Given the description of an element on the screen output the (x, y) to click on. 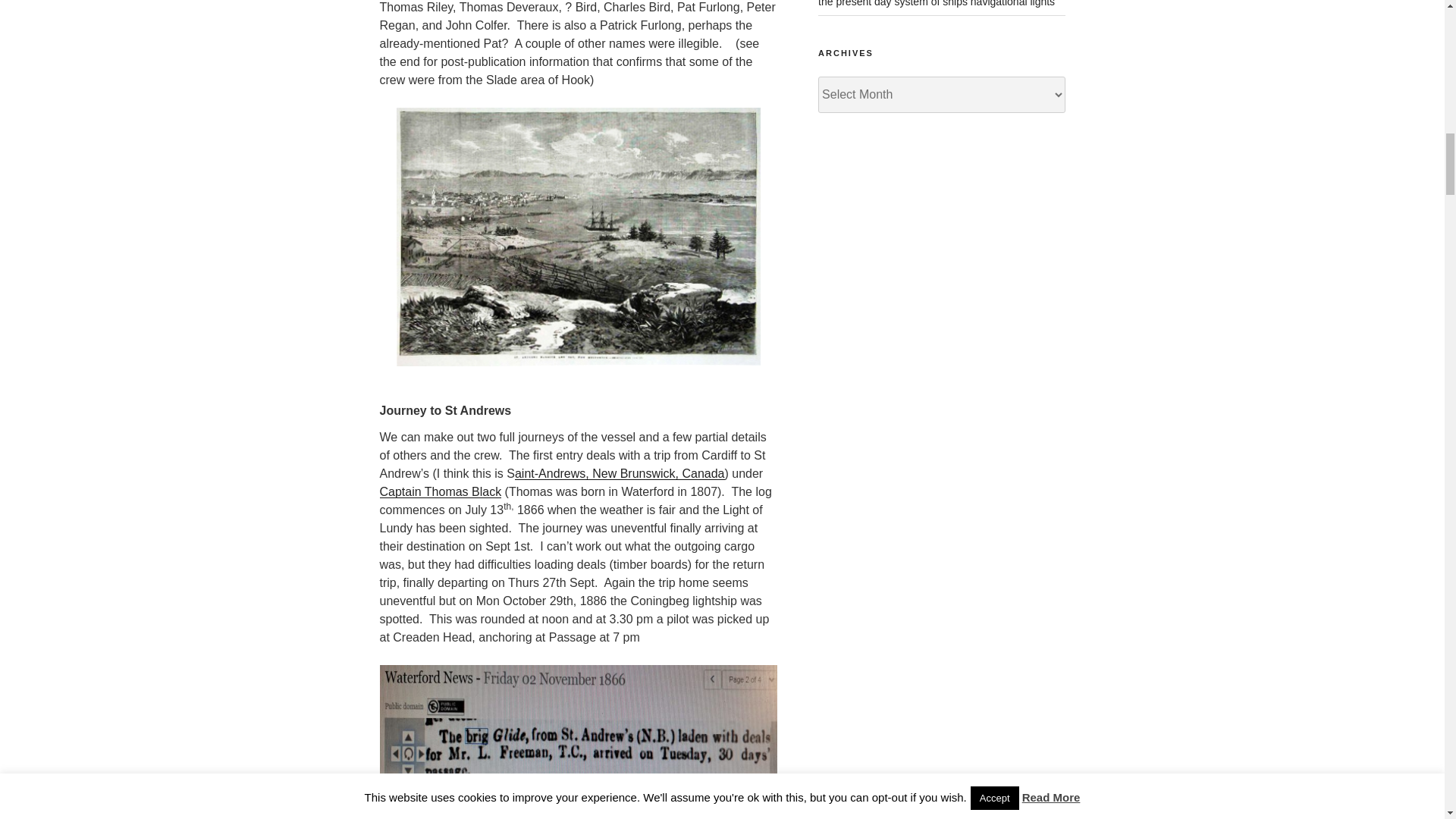
Captain Thomas Black (439, 491)
aint-Andrews, New Brunswick, Canada (620, 472)
